Given the description of an element on the screen output the (x, y) to click on. 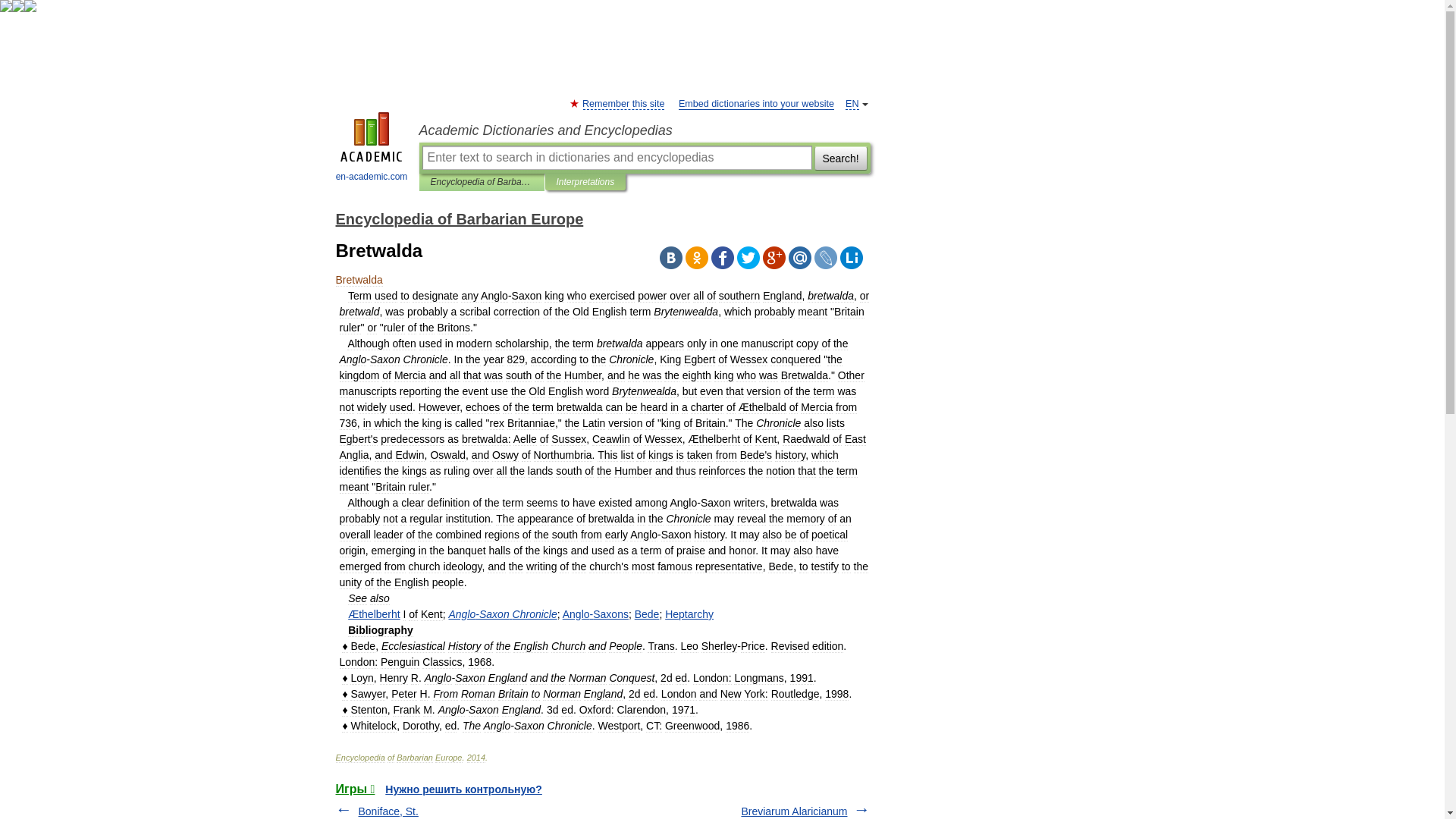
Remember this site (623, 103)
Boniface, St. (387, 811)
Boniface, St. (387, 811)
Anglo-Saxons (595, 613)
Bede (646, 613)
Heptarchy (689, 613)
Breviarum Alaricianum (794, 811)
Search! (840, 157)
Interpretations (585, 181)
Enter text to search in dictionaries and encyclopedias (616, 157)
